Given the description of an element on the screen output the (x, y) to click on. 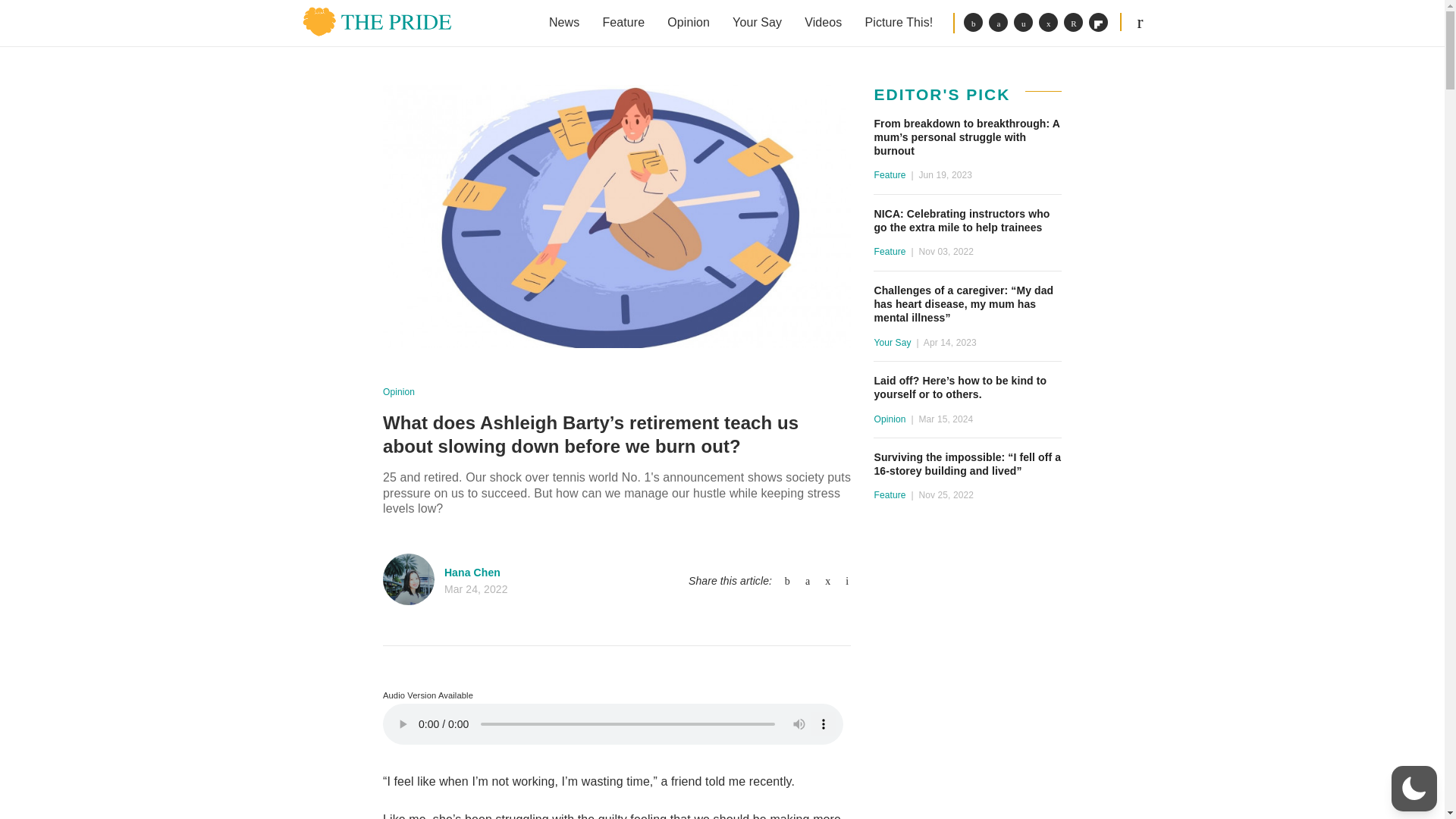
Feature (623, 22)
News (564, 22)
Facebook (972, 22)
Opinion (398, 391)
Flipboard (1098, 22)
Search (1139, 21)
Videos (823, 22)
Your Say (756, 22)
Hana Chen (472, 572)
Singapore Kindness Movement - The Pride (376, 21)
View Hana Chen Articles (407, 579)
Twitter (997, 22)
Picture This! (898, 22)
Instagram (1022, 22)
Telegram Channel (1048, 22)
